Given the description of an element on the screen output the (x, y) to click on. 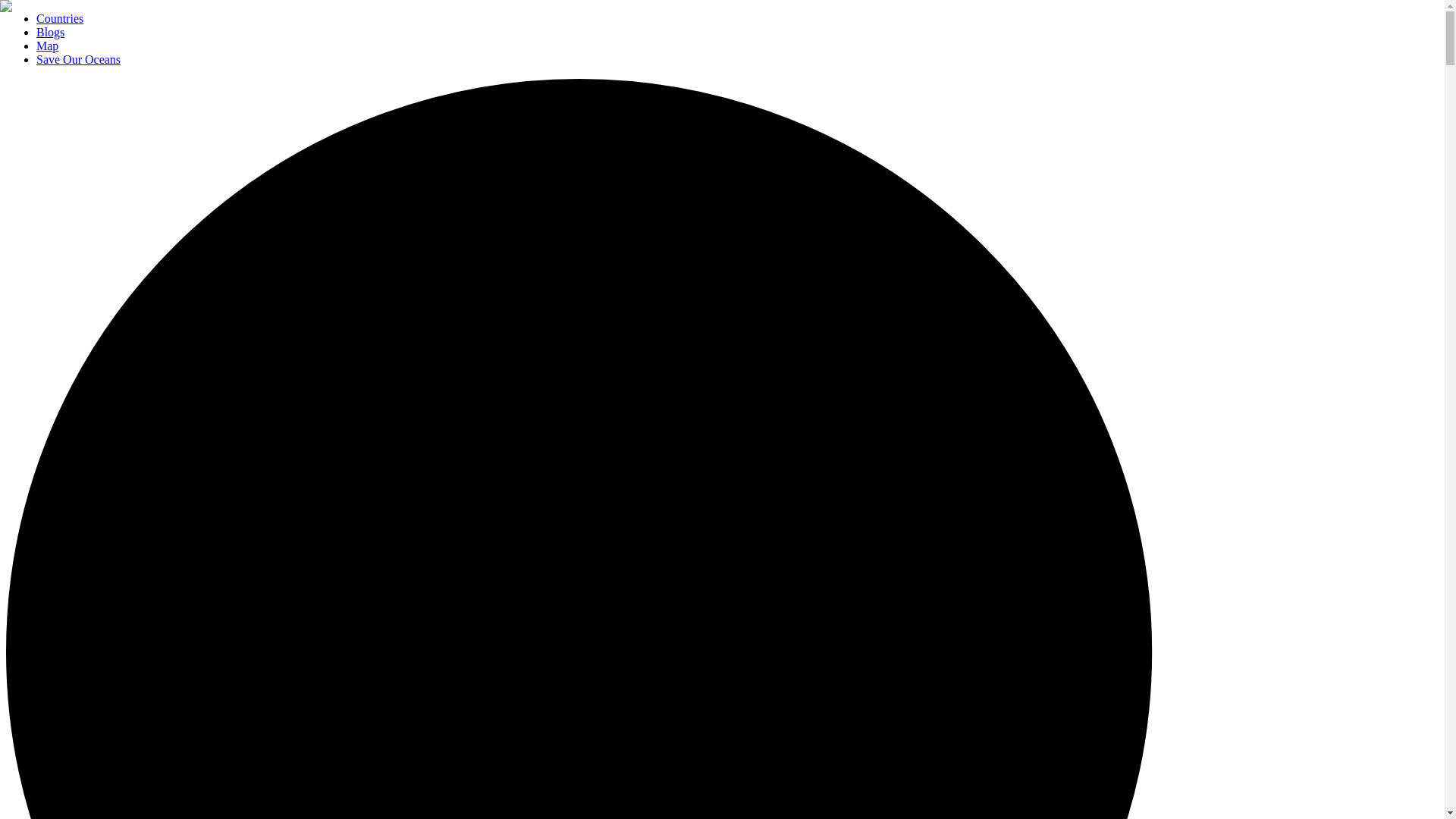
Map (47, 45)
Save Our Oceans (78, 59)
Save Our Oceans (78, 59)
Map (47, 45)
Countries (59, 18)
Blogs (50, 31)
Countries (59, 18)
Blogs (50, 31)
